Given the description of an element on the screen output the (x, y) to click on. 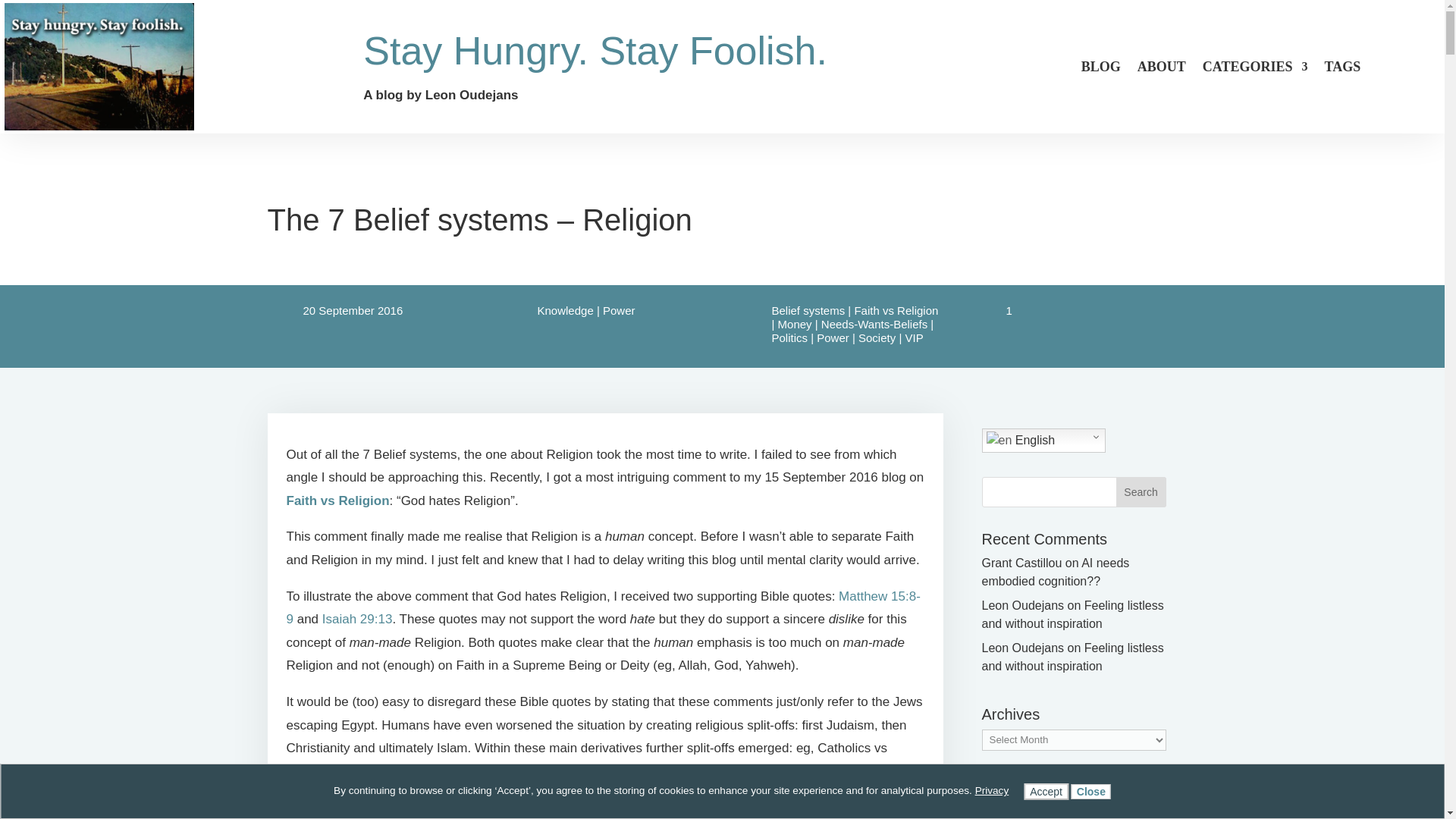
BLOG (1101, 69)
TAGS (1341, 69)
Isaiah 29:13 (357, 618)
Faith vs Religion (895, 309)
Power (618, 309)
VIP (913, 337)
CATEGORIES (1254, 69)
Faith vs Religion (338, 500)
Politics (789, 337)
Matthew 15:8-9 (603, 607)
